Given the description of an element on the screen output the (x, y) to click on. 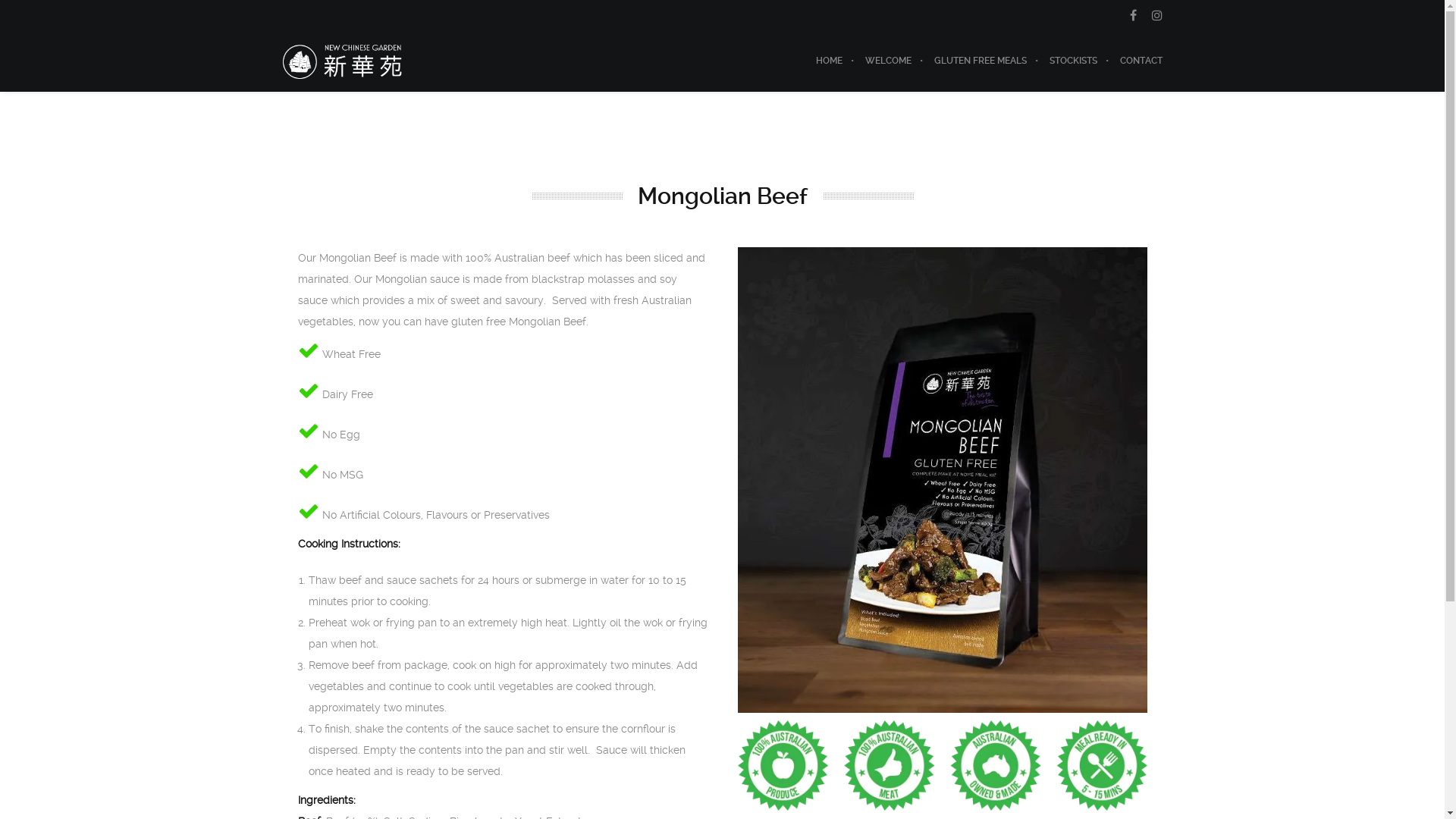
GLUTEN FREE MEALS Element type: text (979, 60)
HOME Element type: text (828, 60)
CONTACT Element type: text (1135, 60)
STOCKISTS Element type: text (1072, 60)
WELCOME Element type: text (887, 60)
